Given the description of an element on the screen output the (x, y) to click on. 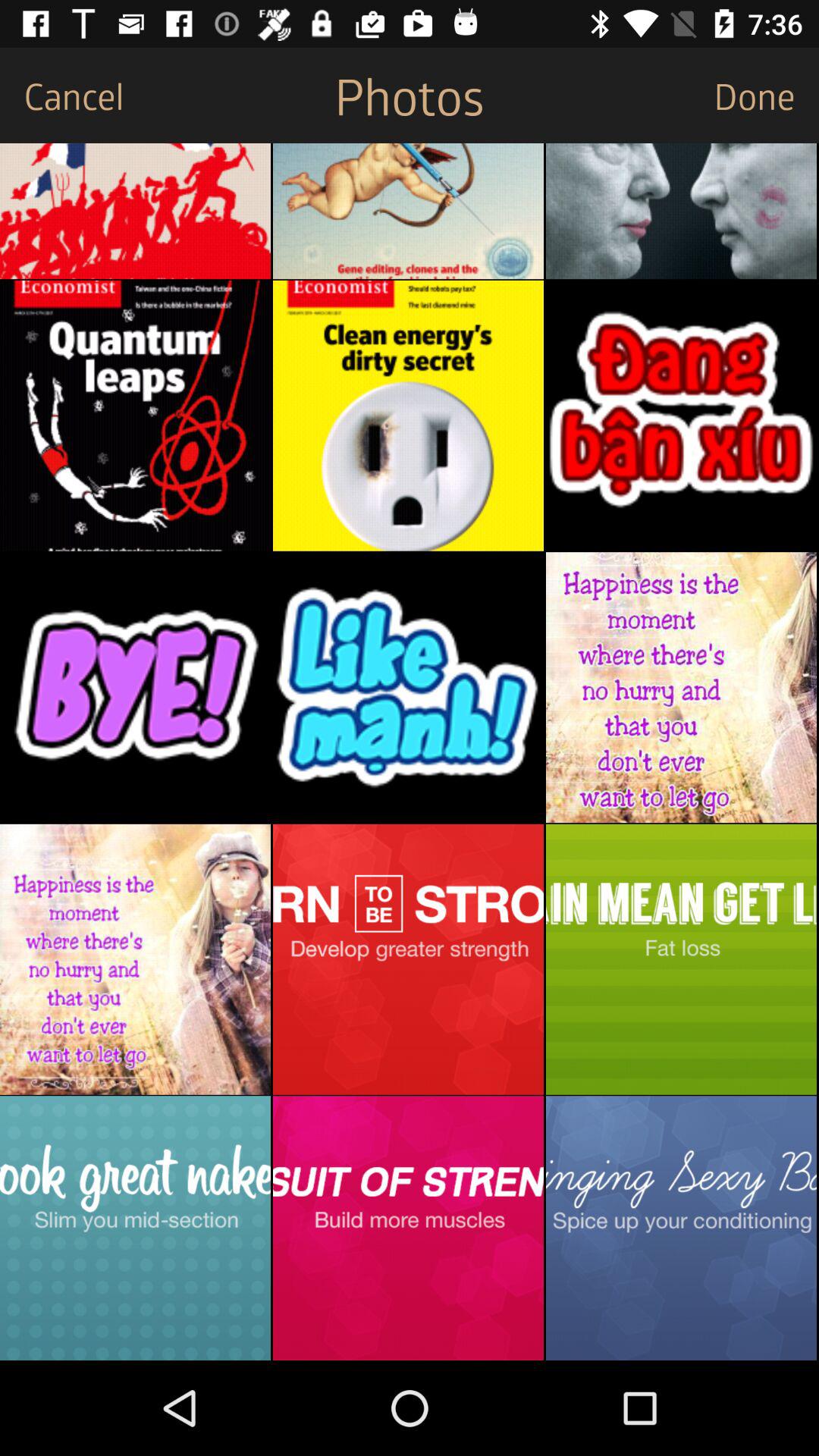
select photo (681, 211)
